Given the description of an element on the screen output the (x, y) to click on. 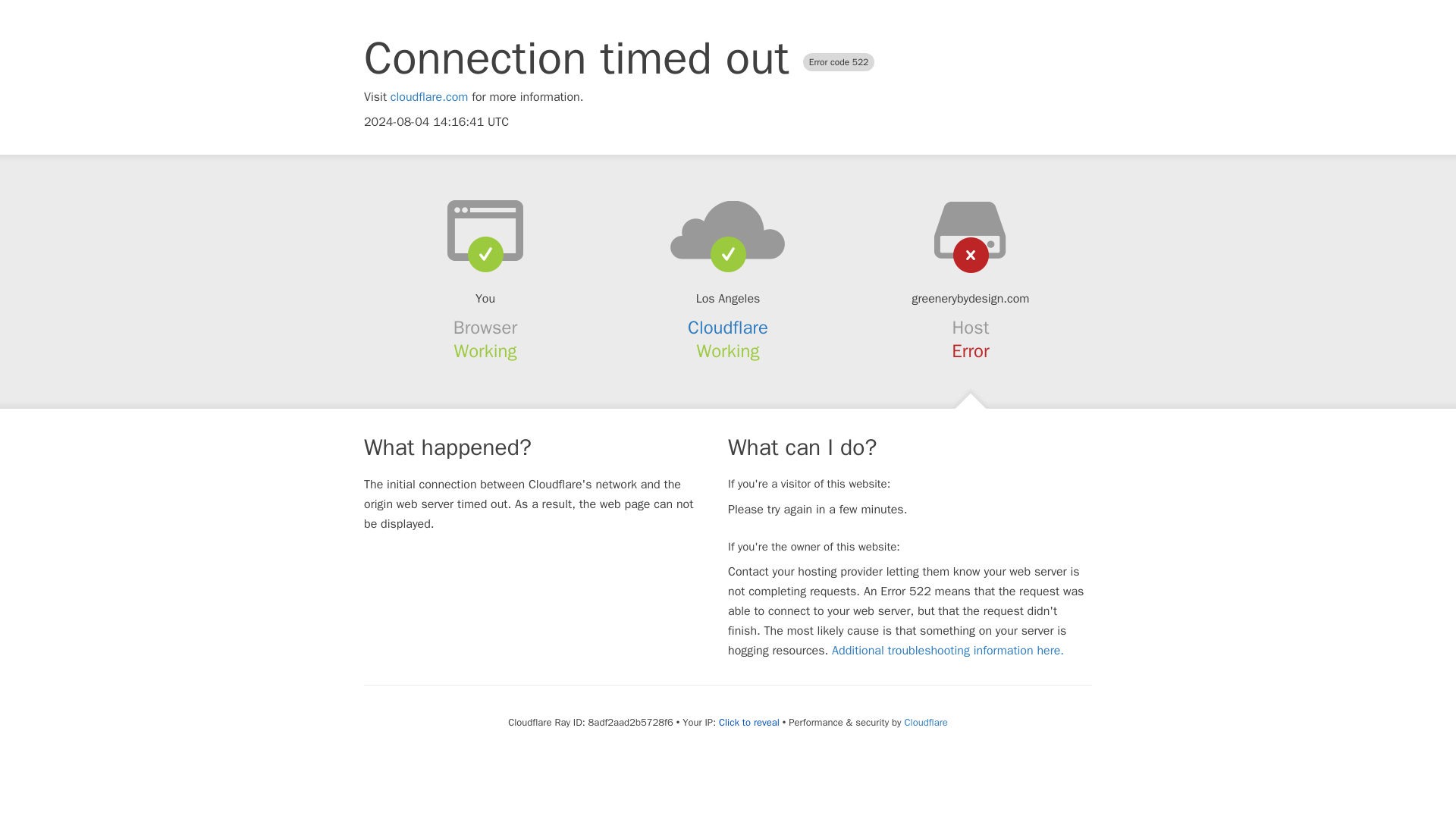
Cloudflare (925, 721)
Cloudflare (727, 327)
Click to reveal (748, 722)
cloudflare.com (429, 96)
Additional troubleshooting information here. (947, 650)
